Given the description of an element on the screen output the (x, y) to click on. 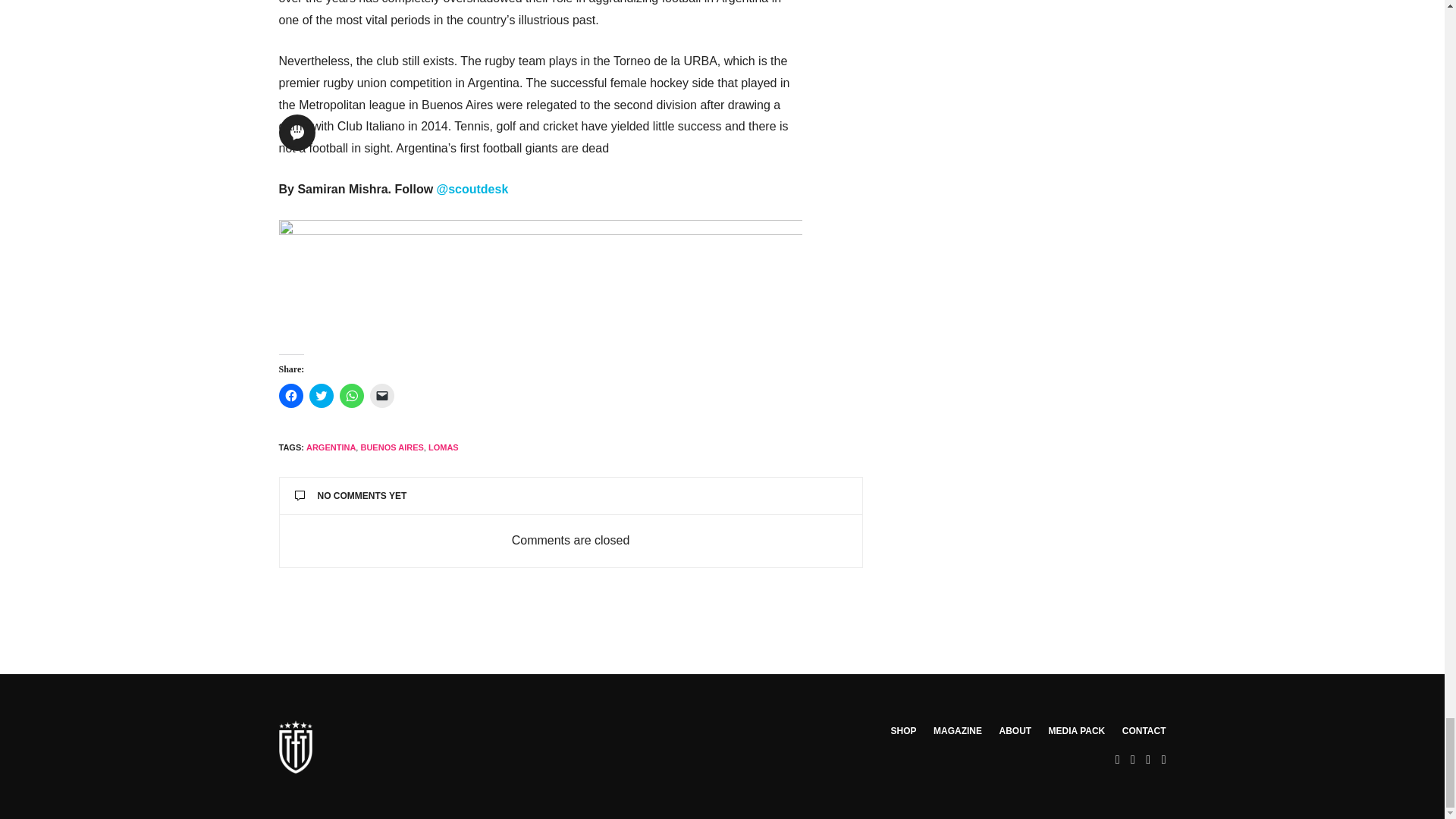
Click to share on Twitter (320, 395)
Click to share on WhatsApp (351, 395)
BUENOS AIRES (391, 447)
Click to email a link to a friend (381, 395)
Click to share on Facebook (290, 395)
LOMAS (443, 447)
ARGENTINA (330, 447)
NO COMMENTS YET (570, 496)
